Given the description of an element on the screen output the (x, y) to click on. 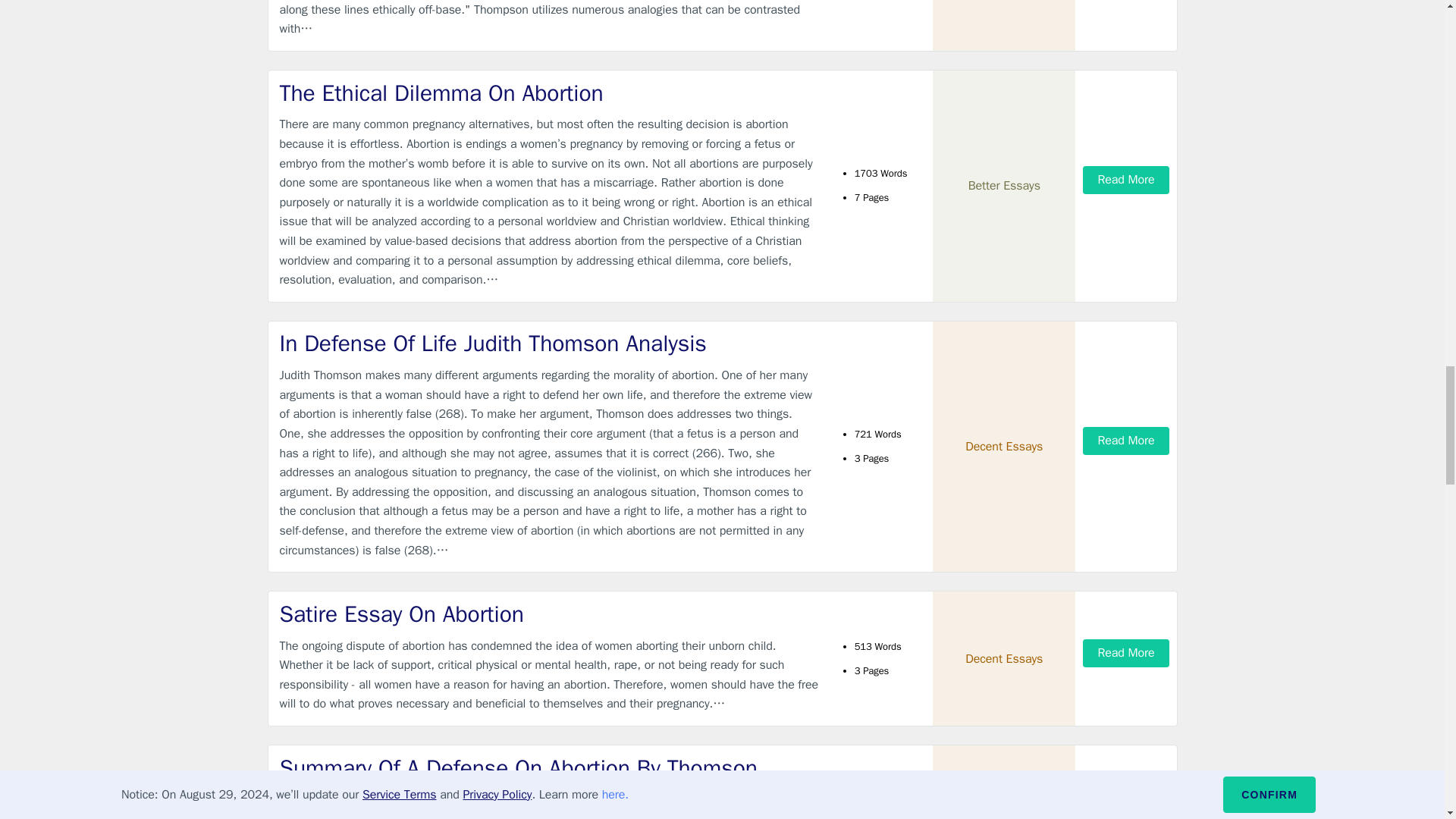
Read More (1126, 180)
Read More (1126, 652)
Read More (1126, 440)
In Defense Of Life Judith Thomson Analysis (548, 343)
Satire Essay On Abortion (548, 613)
The Ethical Dilemma On Abortion (548, 92)
